Given the description of an element on the screen output the (x, y) to click on. 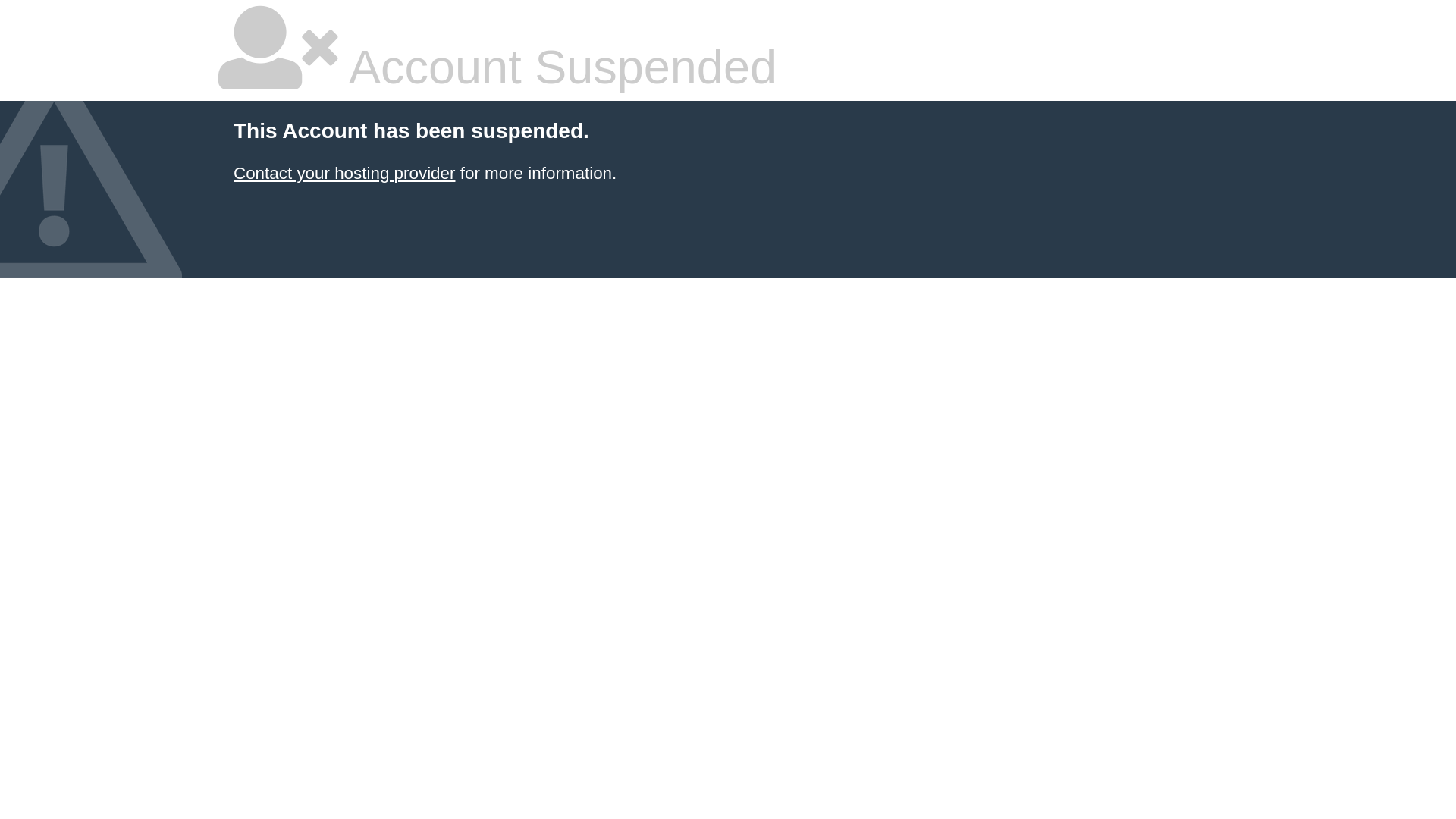
Contact your hosting provider Element type: text (344, 172)
